Given the description of an element on the screen output the (x, y) to click on. 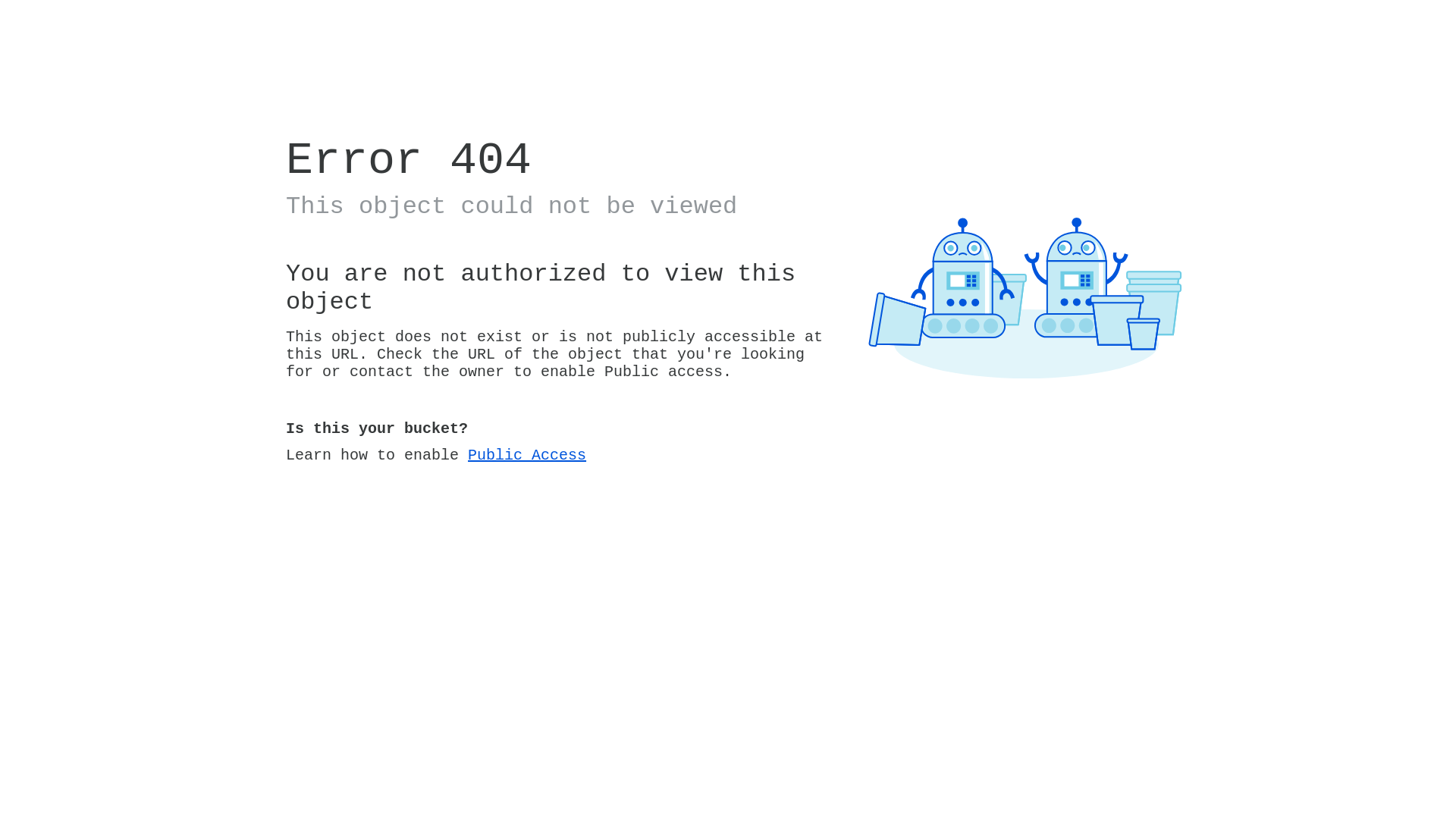
Public Access Element type: text (526, 455)
